Given the description of an element on the screen output the (x, y) to click on. 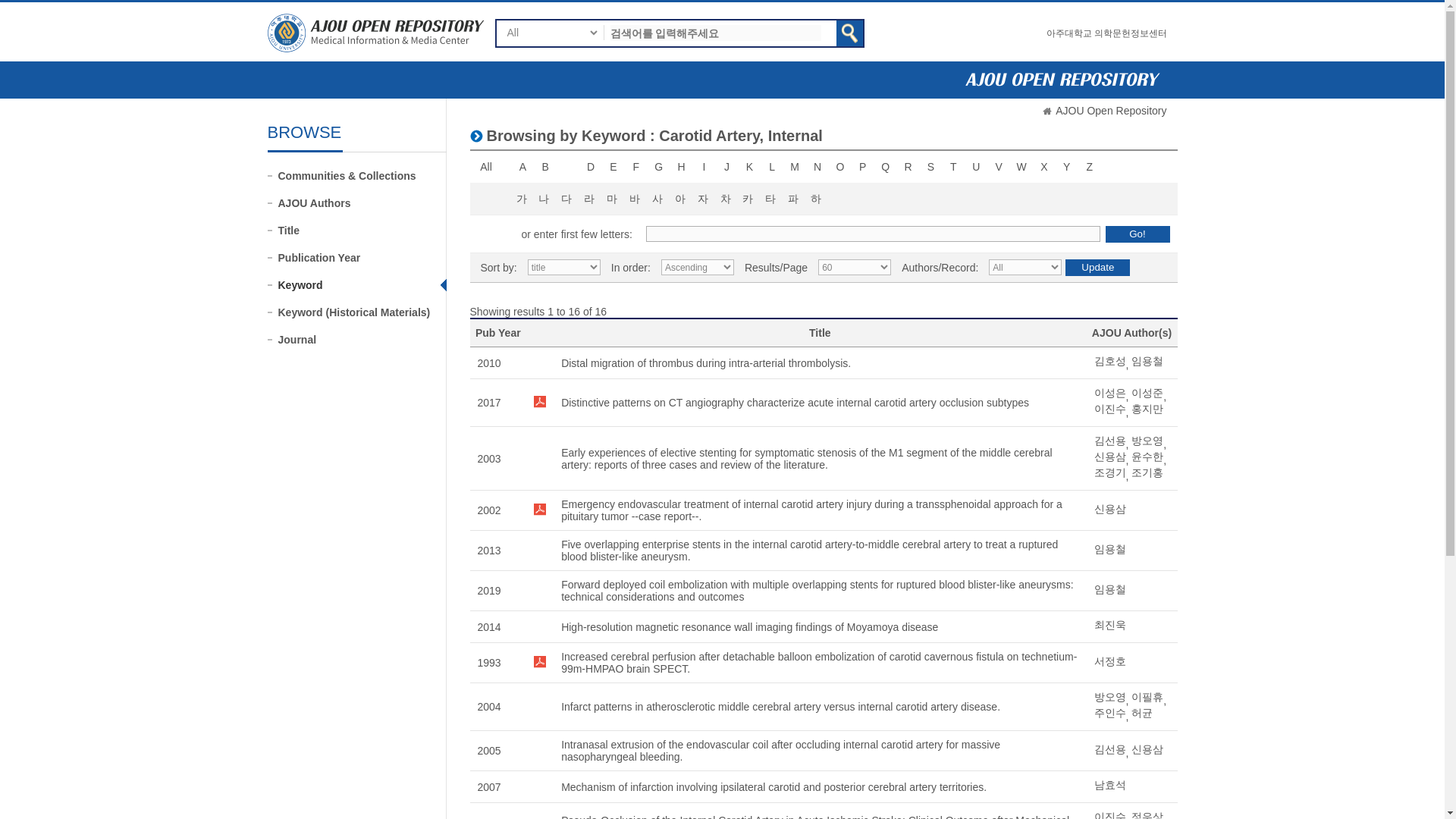
K (748, 166)
W (1020, 166)
A (522, 166)
AJOU Authors (361, 202)
AJOU Open Repository (1110, 110)
Keyword (361, 284)
Journal (361, 339)
I (704, 166)
S (930, 166)
X (1043, 166)
